Given the description of an element on the screen output the (x, y) to click on. 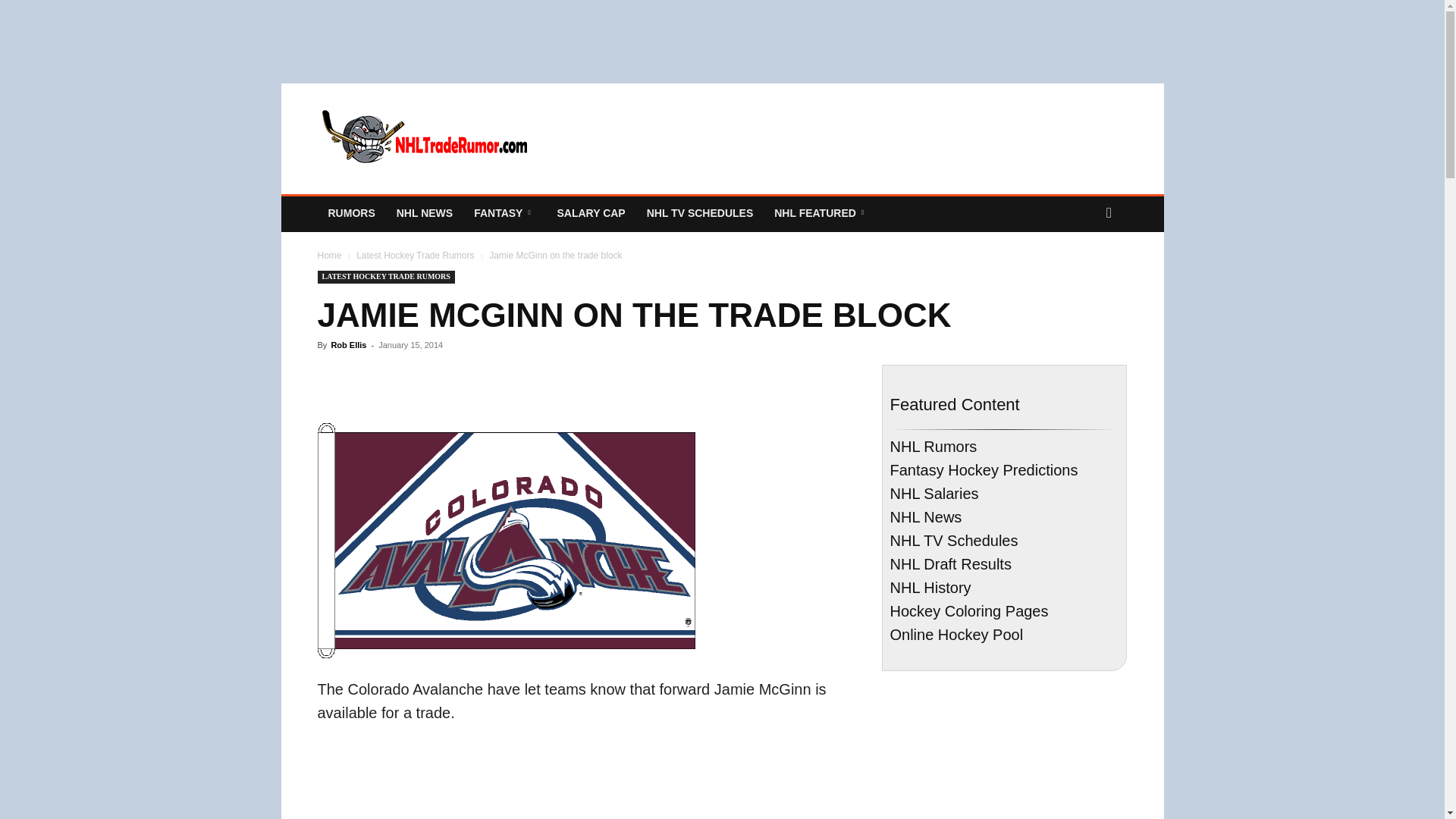
RUMORS (351, 212)
NHL NEWS (424, 212)
NHL Salary Cap (590, 212)
Latest NHL news and rumors (351, 212)
FANTASY (504, 212)
Fantasy Hockey Predictions (504, 212)
